Given the description of an element on the screen output the (x, y) to click on. 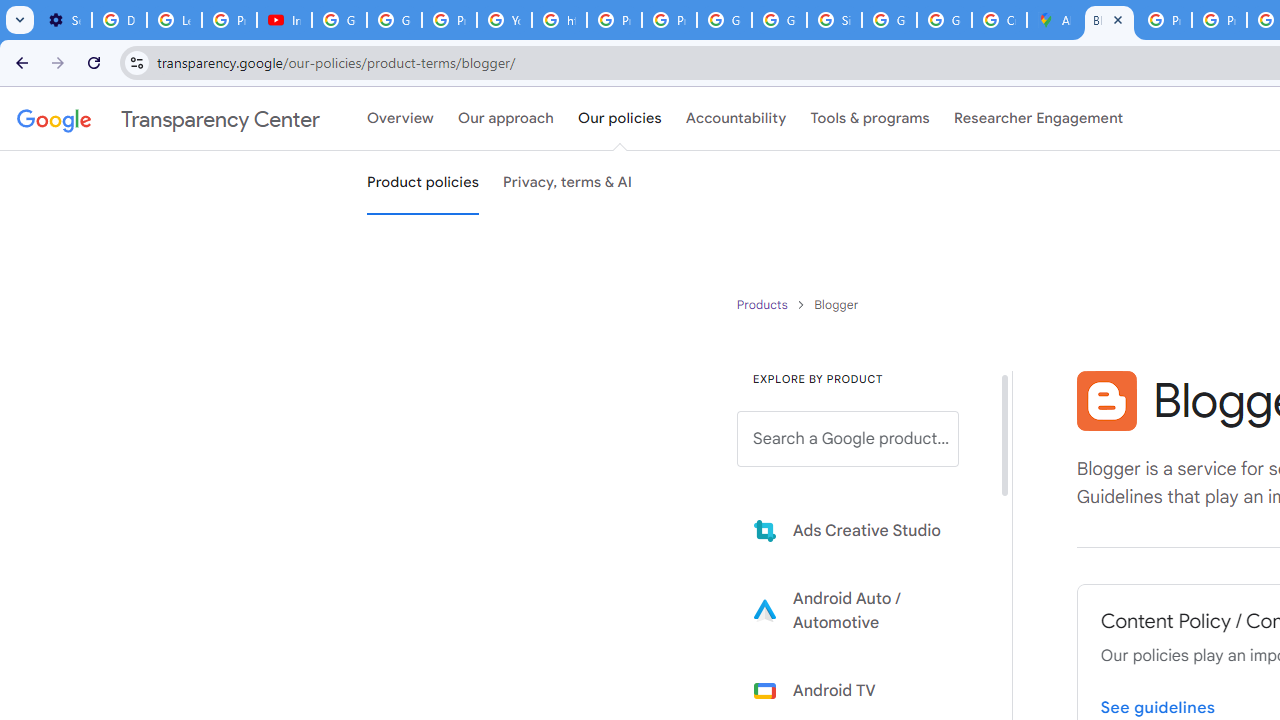
Our policies (619, 119)
Privacy Help Center - Policies Help (614, 20)
YouTube (504, 20)
Sign in - Google Accounts (833, 20)
Privacy Help Center - Policies Help (1218, 20)
Create your Google Account (998, 20)
Blogger (1106, 400)
